Given the description of an element on the screen output the (x, y) to click on. 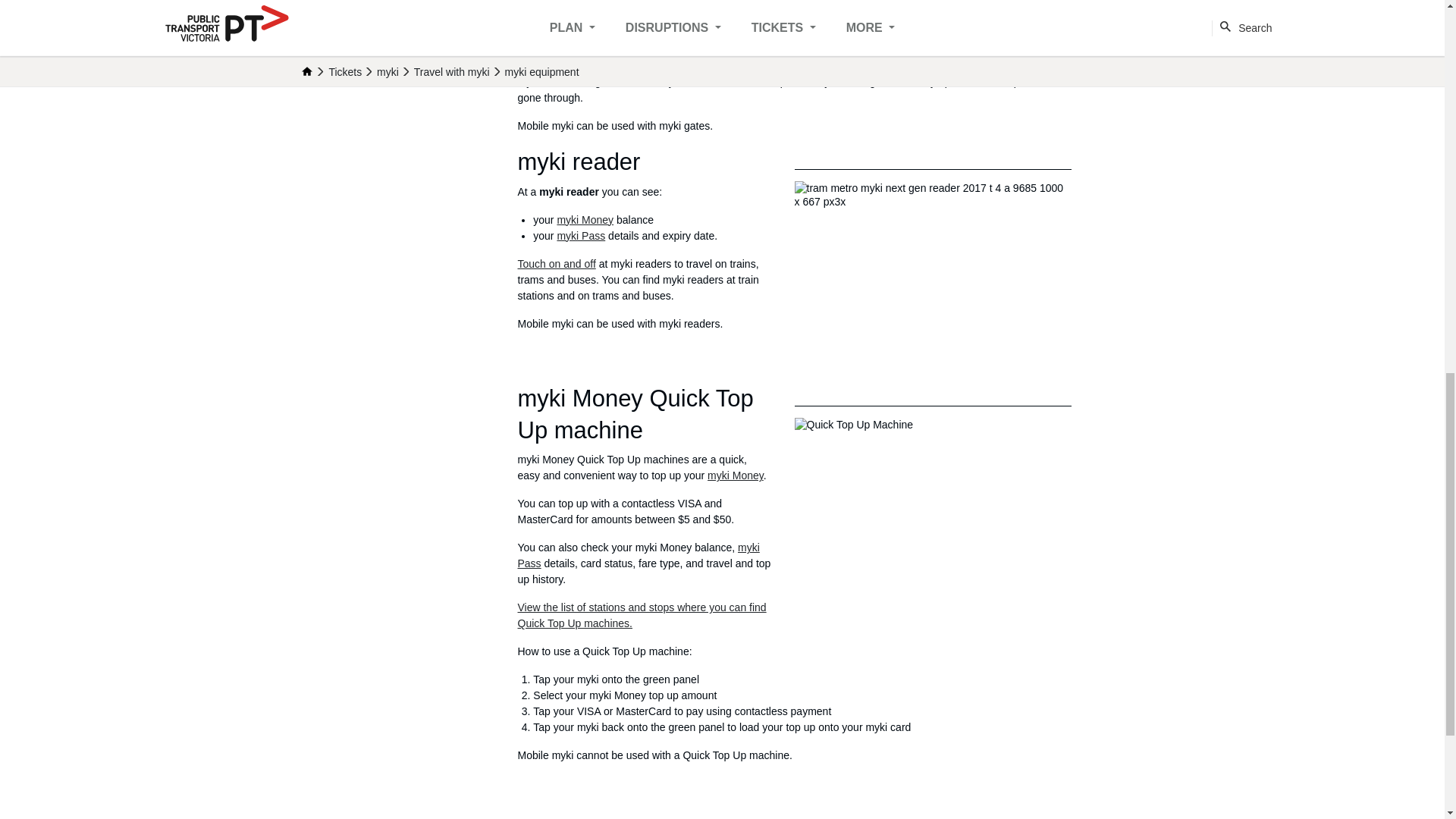
Link to myki Pass page (637, 555)
Link to Quick Top Up machine locations page (640, 615)
Link to myki Money page (734, 475)
Link to myki Money page (584, 219)
Link to myki Pass page (580, 235)
Link to Travel with myki page (555, 263)
